Given the description of an element on the screen output the (x, y) to click on. 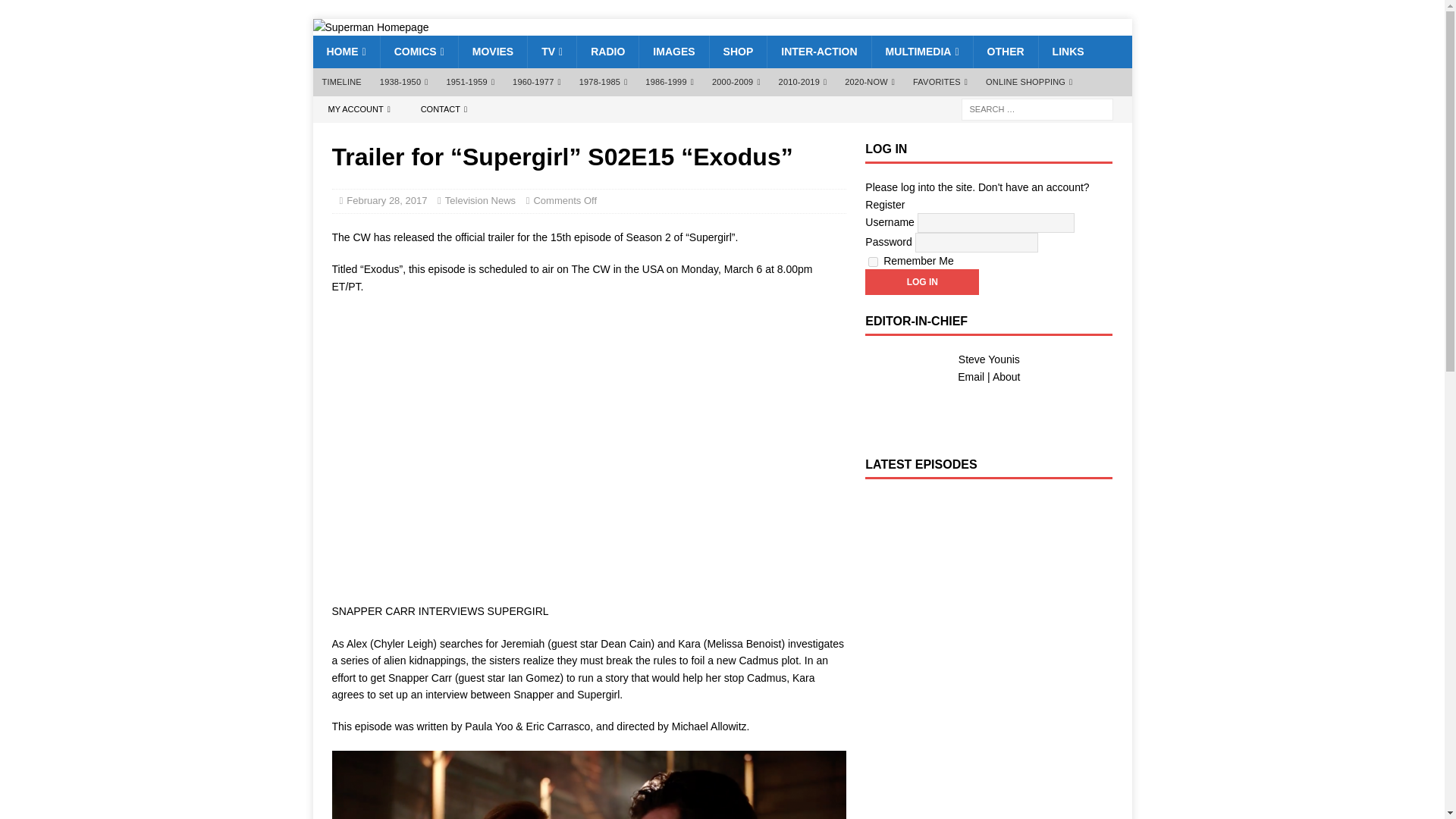
IMAGES (673, 51)
Superman Homepage (370, 27)
1986-1999 (669, 82)
1960-1977 (536, 82)
1978-1985 (603, 82)
INTER-ACTION (818, 51)
RADIO (607, 51)
MOVIES (492, 51)
forever (872, 261)
Log In (921, 281)
